Given the description of an element on the screen output the (x, y) to click on. 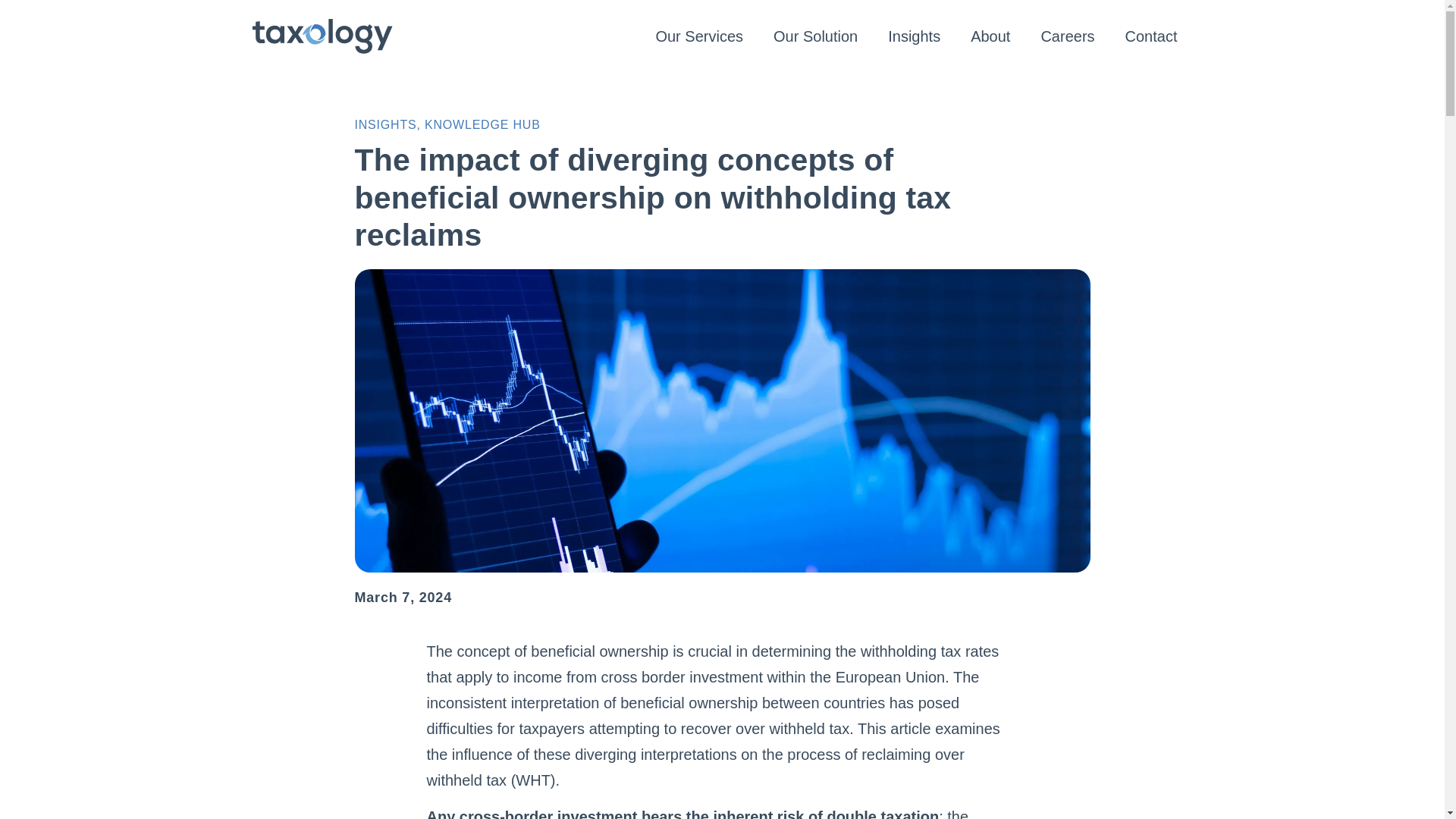
Our Solution (815, 36)
Insights (913, 36)
Careers (1067, 36)
KNOWLEDGE HUB (482, 124)
Our Services (699, 36)
INSIGHTS (385, 124)
About (990, 36)
Contact (1150, 36)
